Given the description of an element on the screen output the (x, y) to click on. 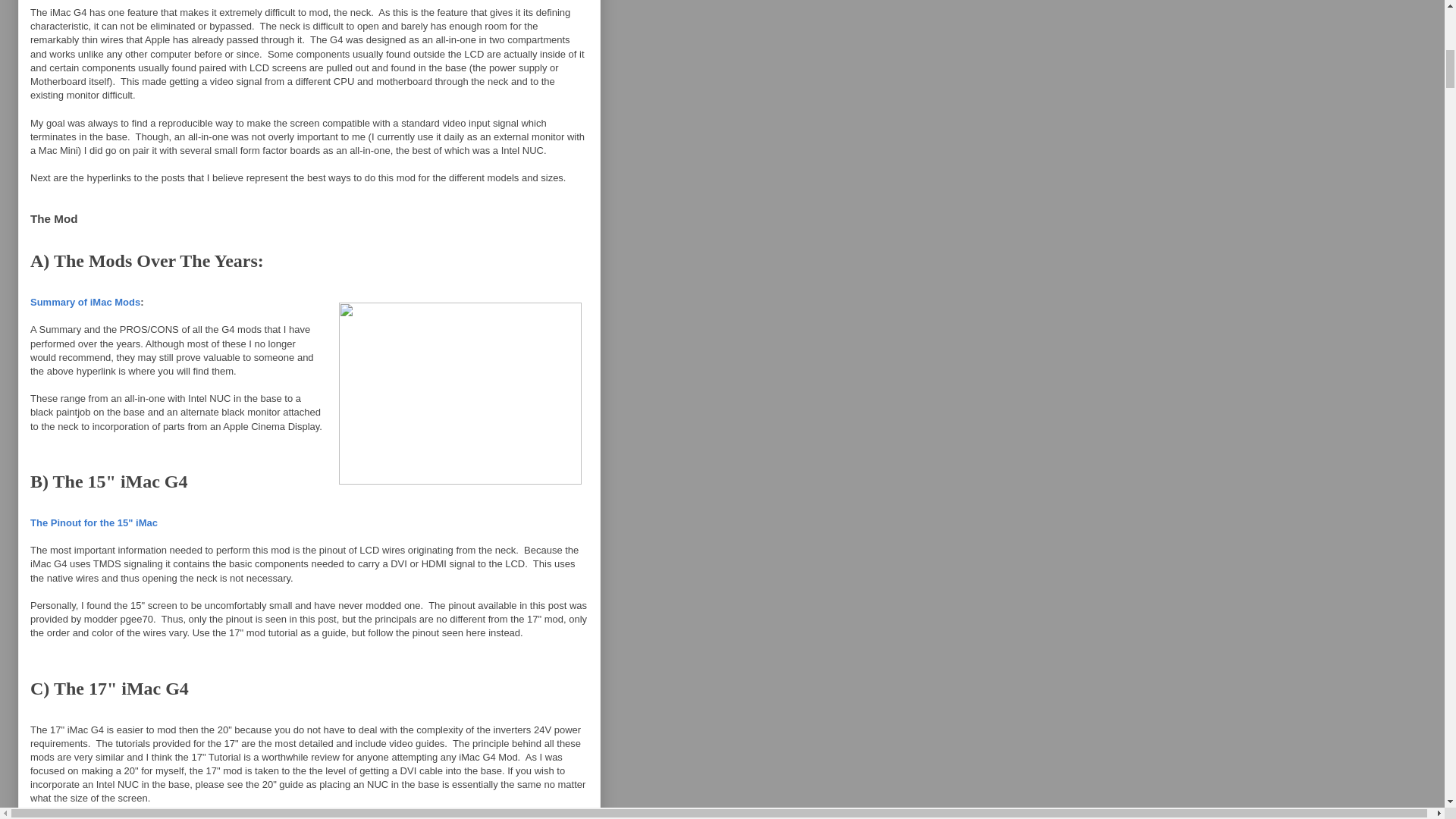
Summary of iMac Mods (84, 301)
The Pinout for the 15" iMac (93, 522)
